Given the description of an element on the screen output the (x, y) to click on. 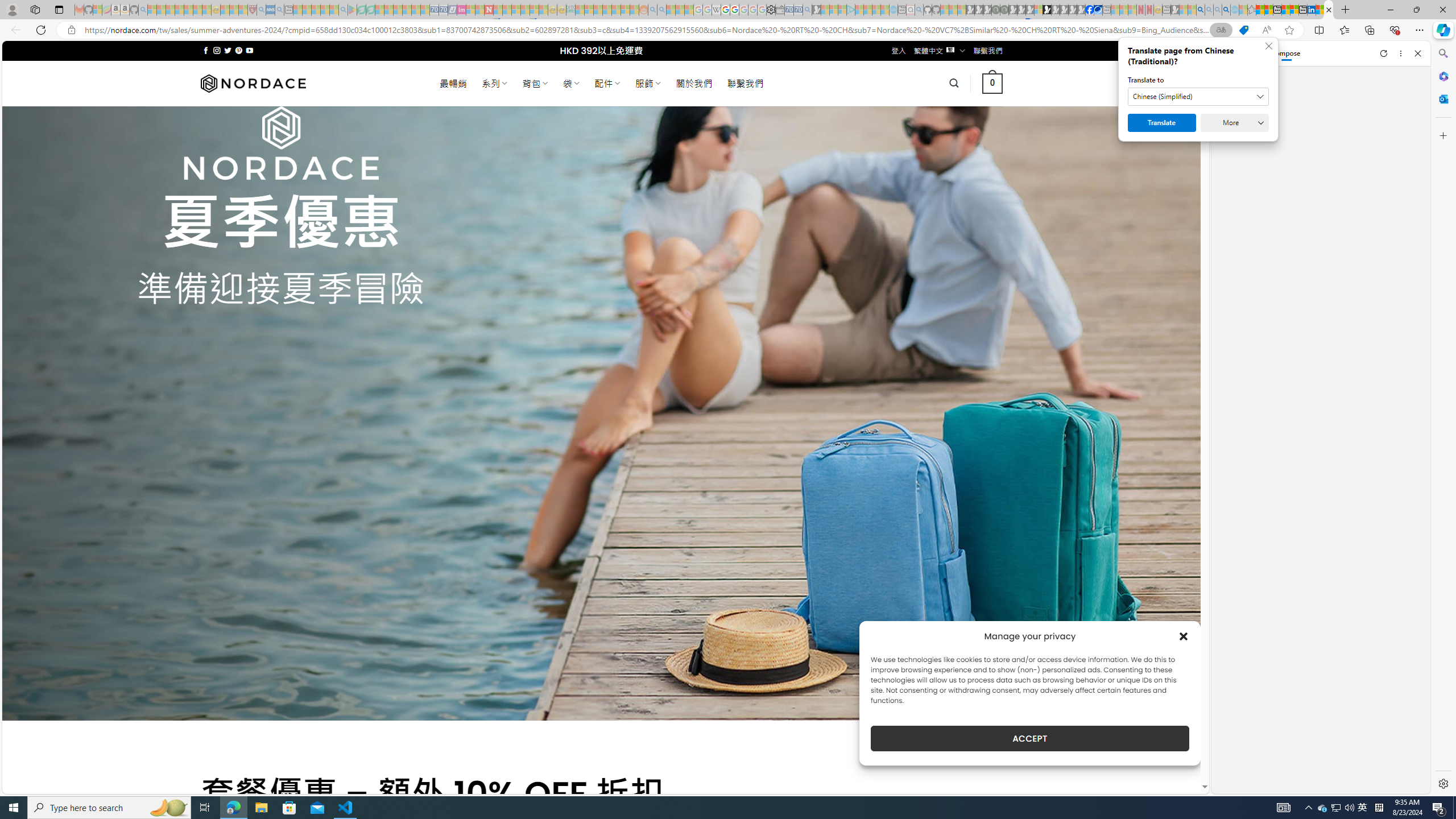
Bluey: Let's Play! - Apps on Google Play - Sleeping (352, 9)
Terms of Use Agreement - Sleeping (361, 9)
Target page - Wikipedia - Sleeping (716, 9)
Class: cmplz-close (1183, 636)
Sign in to your account - Sleeping (1038, 9)
